Given the description of an element on the screen output the (x, y) to click on. 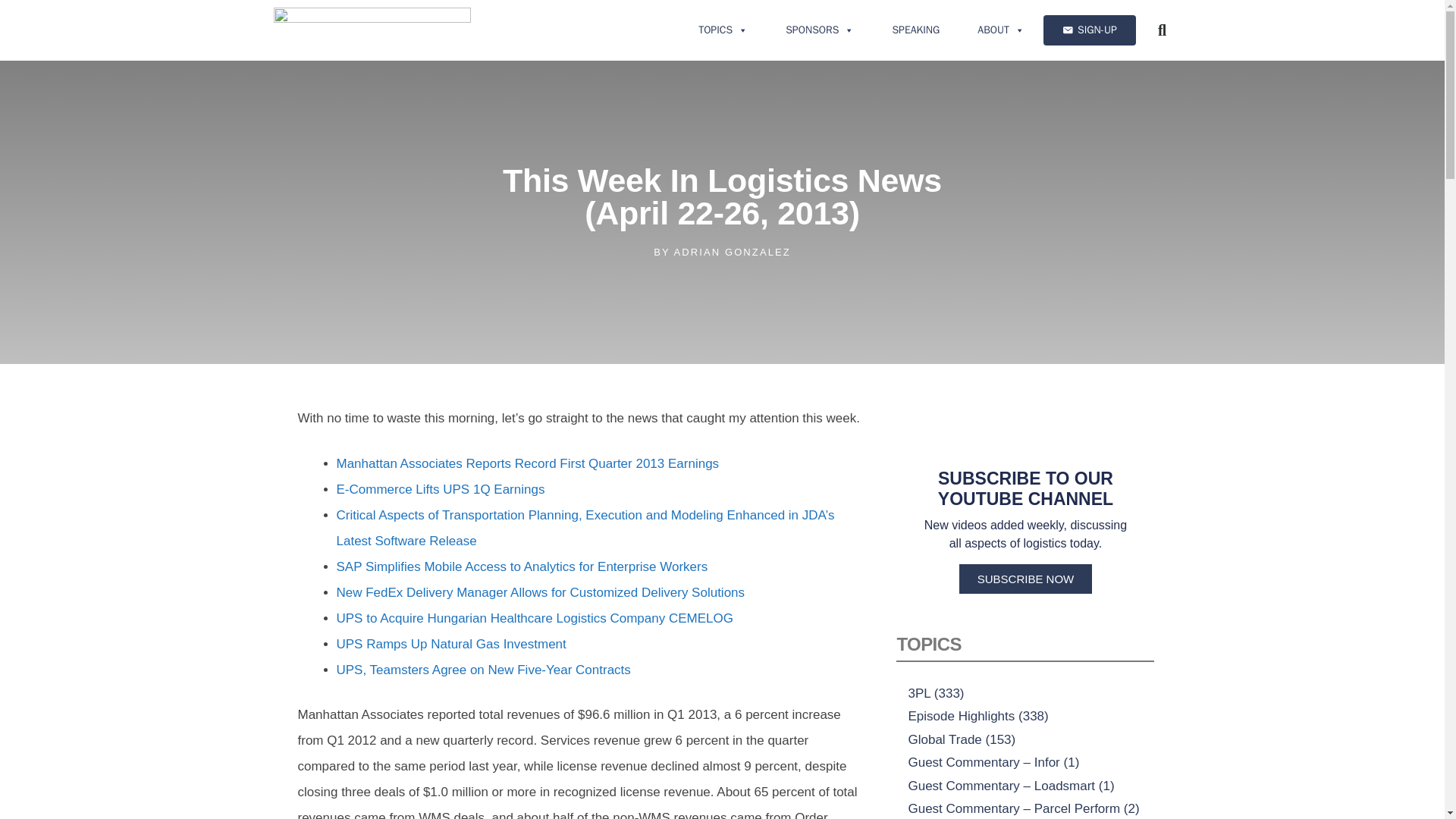
SIGN-UP (1089, 30)
TOPICS (723, 30)
SPONSORS (819, 30)
SPEAKING (915, 30)
ABOUT (1000, 30)
